Given the description of an element on the screen output the (x, y) to click on. 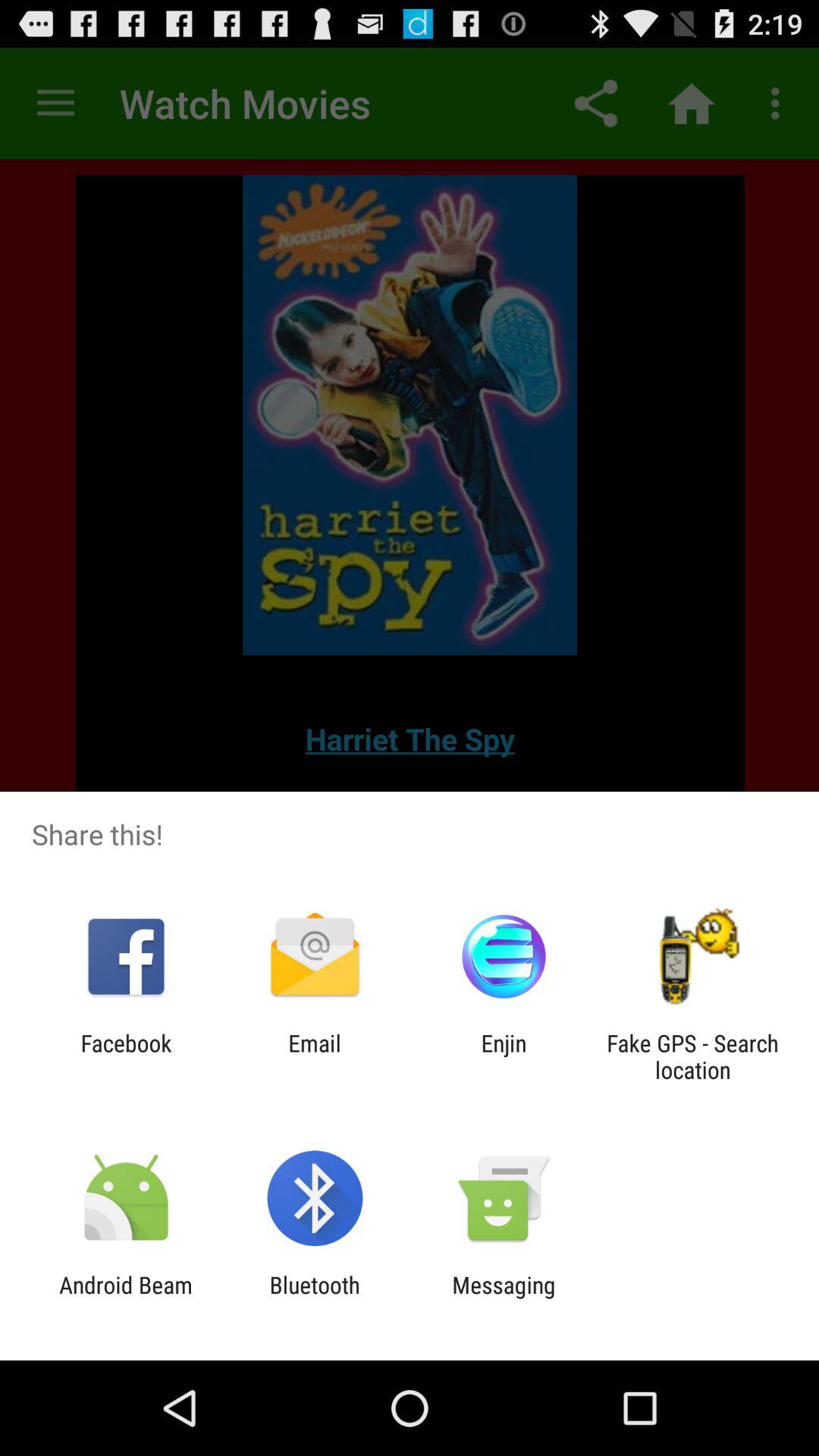
swipe until email item (314, 1056)
